Given the description of an element on the screen output the (x, y) to click on. 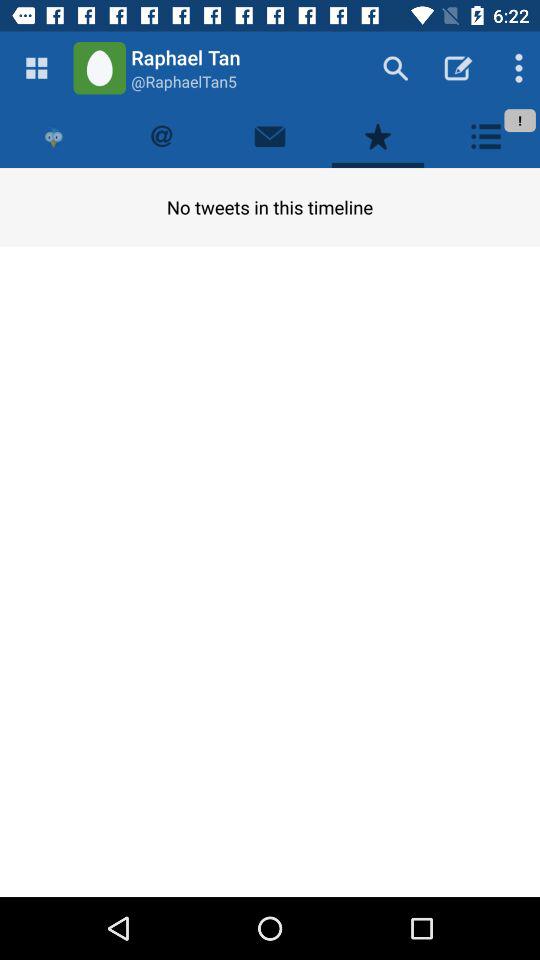
open messages (270, 136)
